Given the description of an element on the screen output the (x, y) to click on. 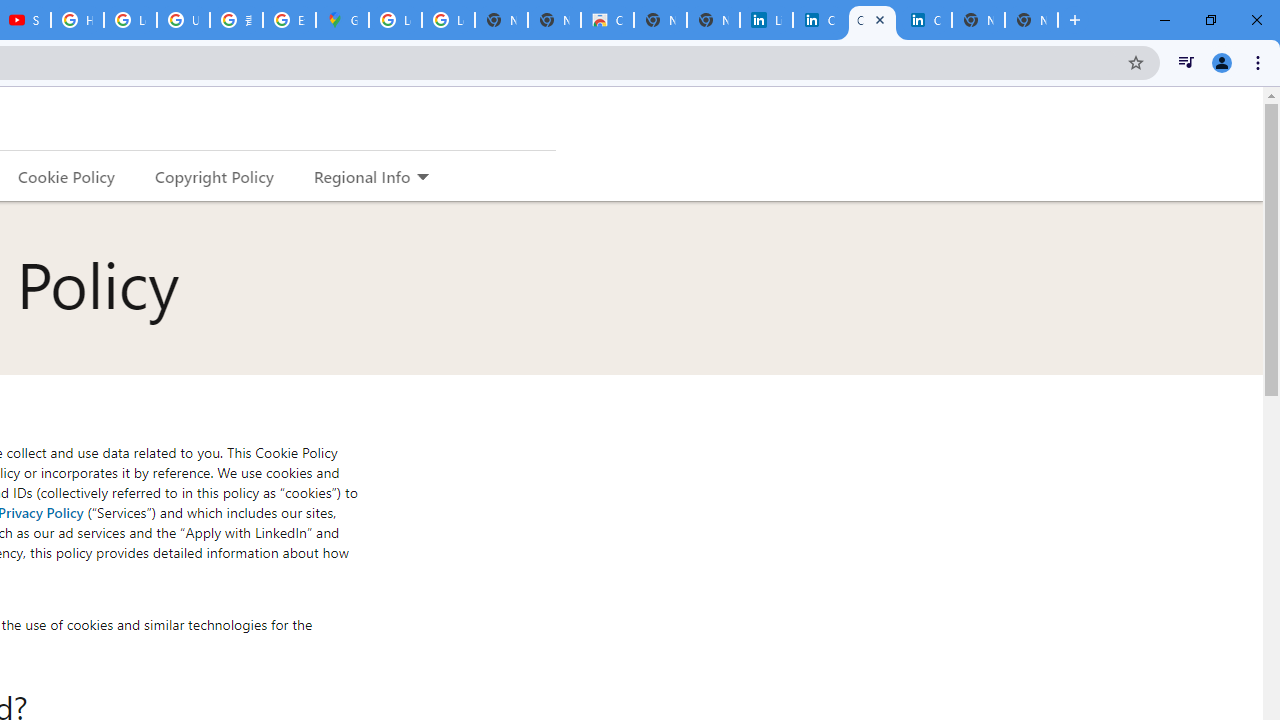
Cookie Policy (66, 176)
Expand to show more links for Regional Info (422, 178)
Cookie Policy | LinkedIn (872, 20)
How Chrome protects your passwords - Google Chrome Help (77, 20)
Control your music, videos, and more (1185, 62)
Regional Info (361, 176)
Chrome Web Store (607, 20)
